Given the description of an element on the screen output the (x, y) to click on. 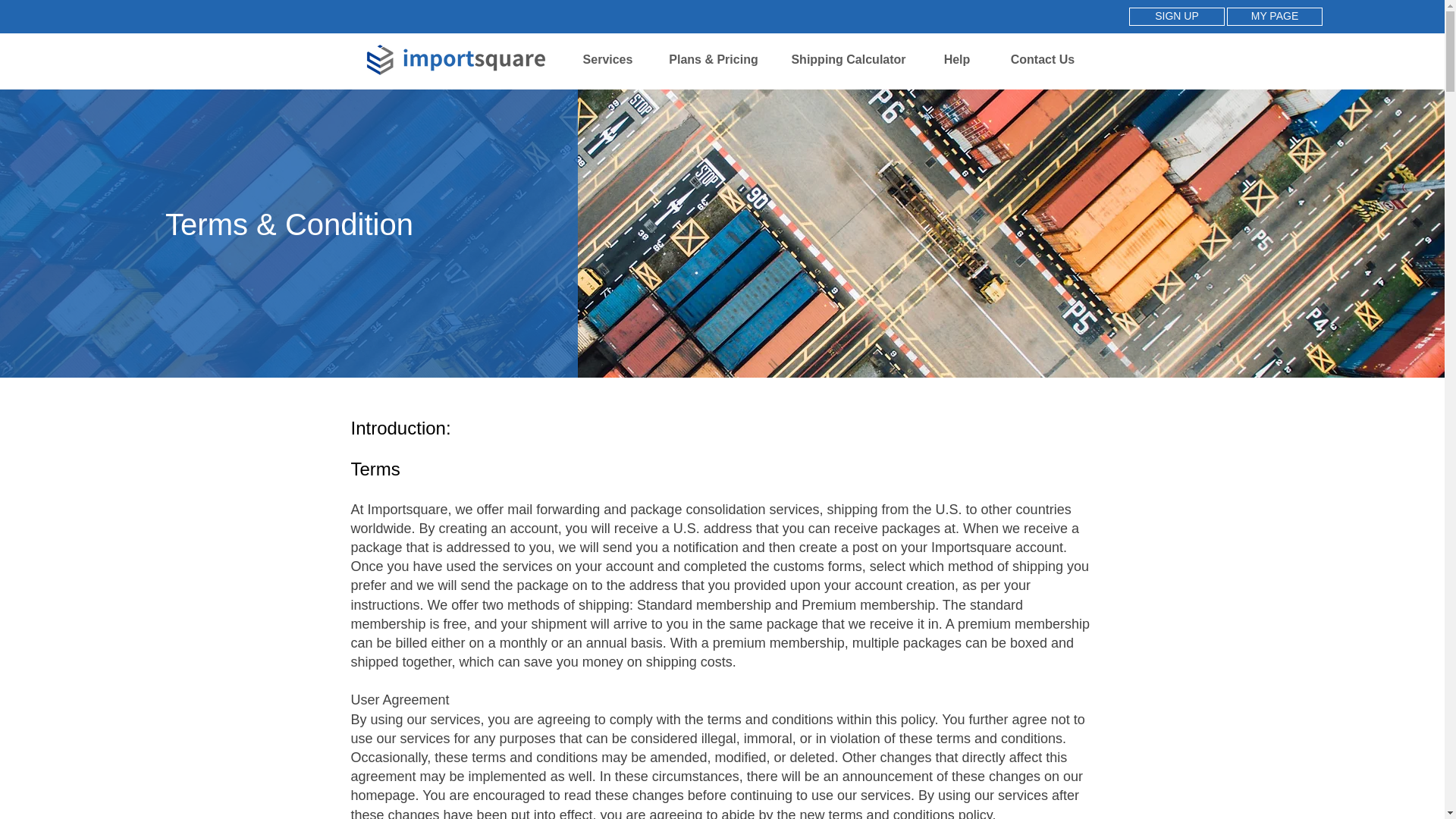
Shipping Calculator (848, 59)
Contact Us (1042, 59)
SIGN UP (1176, 16)
MY PAGE (1274, 16)
